Given the description of an element on the screen output the (x, y) to click on. 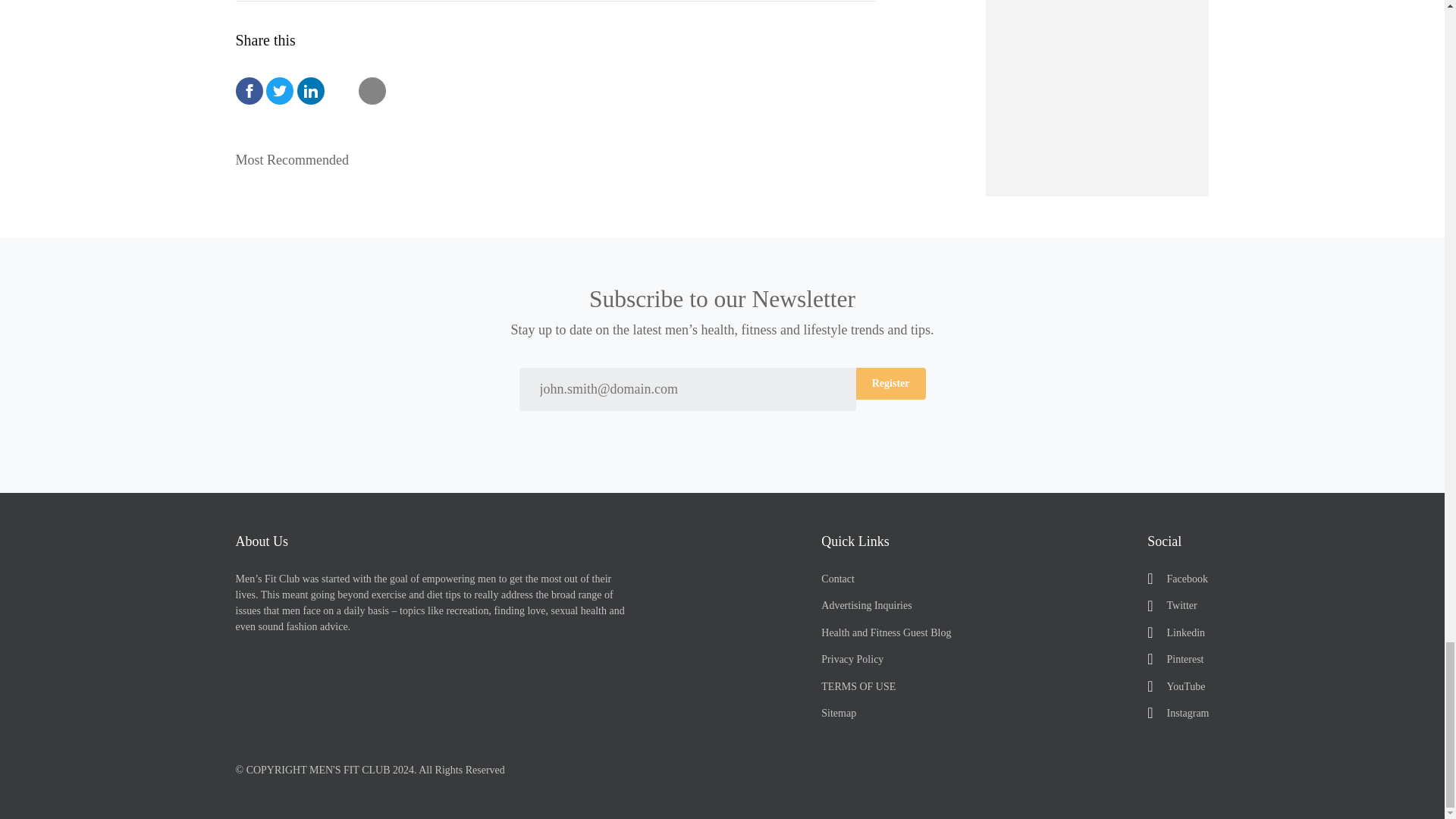
Register (891, 383)
TERMS OF USE (885, 686)
Contact (885, 578)
YouTube (1177, 686)
Twitter (1177, 605)
Sitemap (885, 713)
Register (891, 383)
Privacy Policy (885, 659)
Linkedin (1177, 632)
Health and Fitness Guest Blog (885, 632)
Facebook (1177, 578)
Pinterest (1177, 659)
Advertising Inquiries (885, 605)
Instagram (1177, 713)
